Given the description of an element on the screen output the (x, y) to click on. 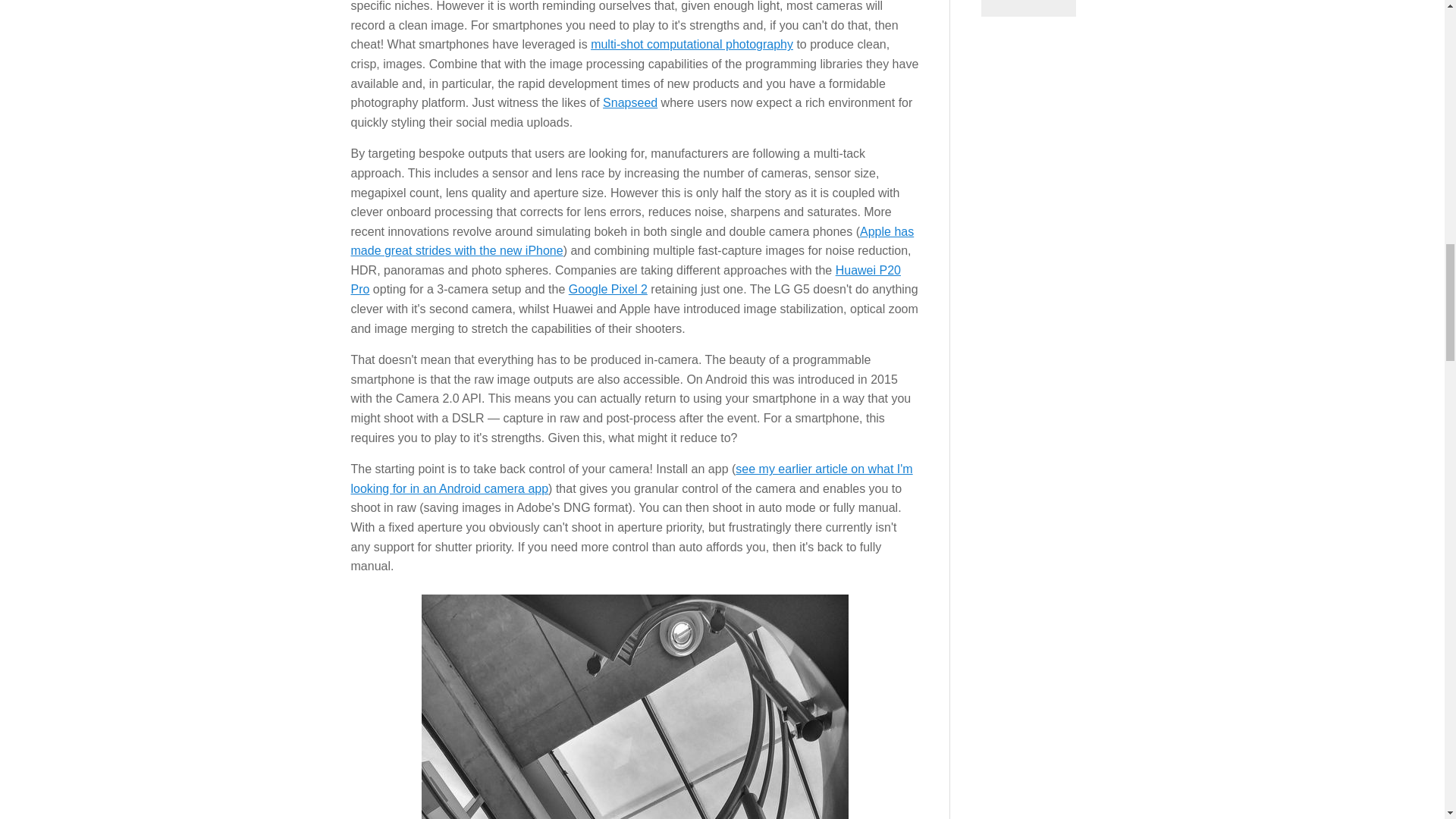
Snapseed (630, 102)
multi-shot computational photography (692, 43)
Google Pixel 2 (608, 288)
Huawei P20 Pro (624, 279)
Apple has made great strides with the new iPhone (632, 241)
